Given the description of an element on the screen output the (x, y) to click on. 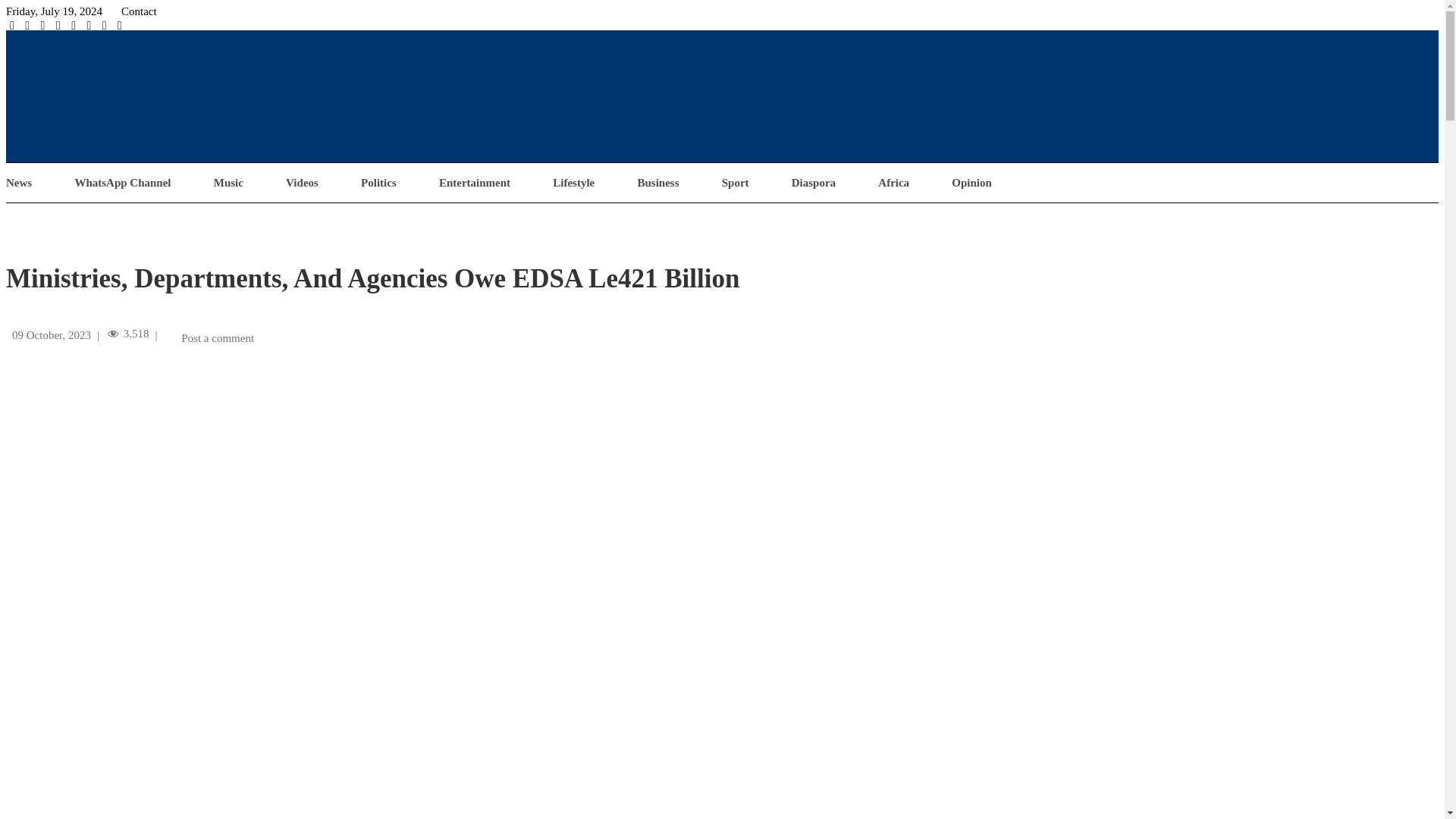
Music (228, 182)
Contact (138, 10)
News (18, 182)
Entertainment (475, 182)
Opinion (971, 182)
WhatsApp Channel (122, 182)
Business (657, 182)
Friday, July 19, 2024 (53, 10)
Videos (301, 182)
Lifestyle (573, 182)
09 October, 2023 (50, 335)
Africa (892, 182)
Diaspora (813, 182)
Sport (735, 182)
Politics (378, 182)
